Given the description of an element on the screen output the (x, y) to click on. 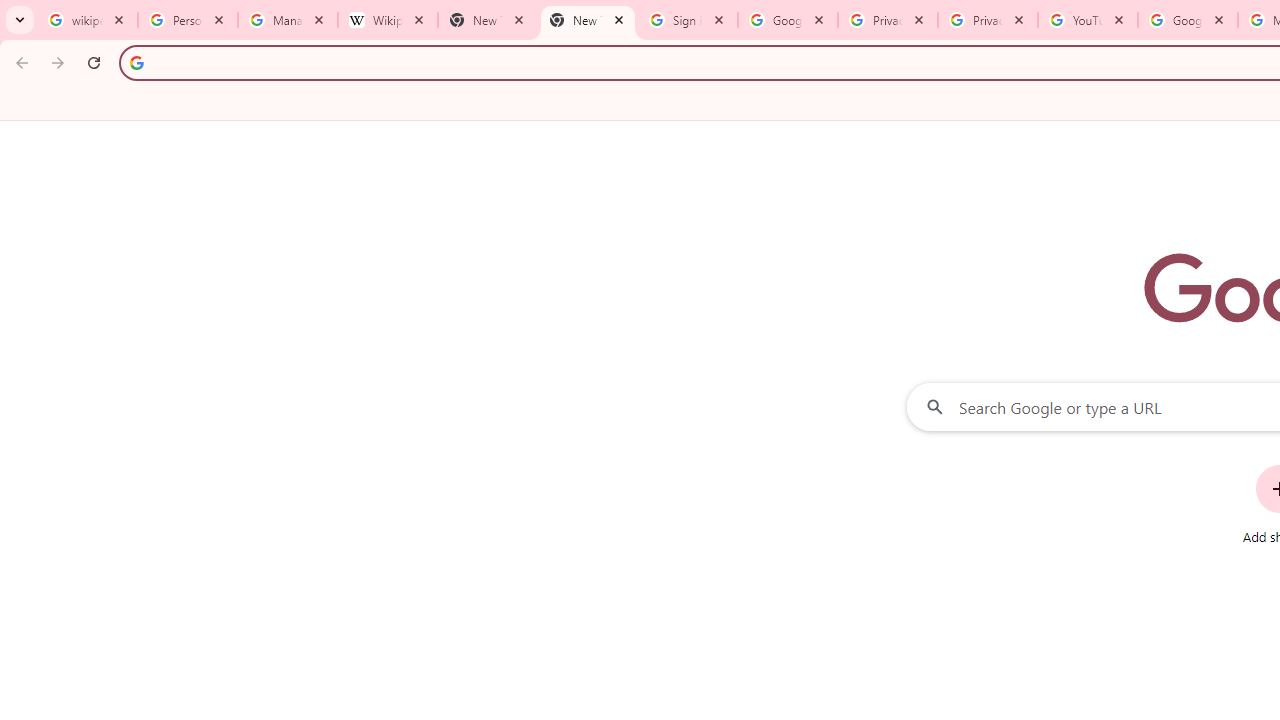
Manage your Location History - Google Search Help (287, 20)
